Given the description of an element on the screen output the (x, y) to click on. 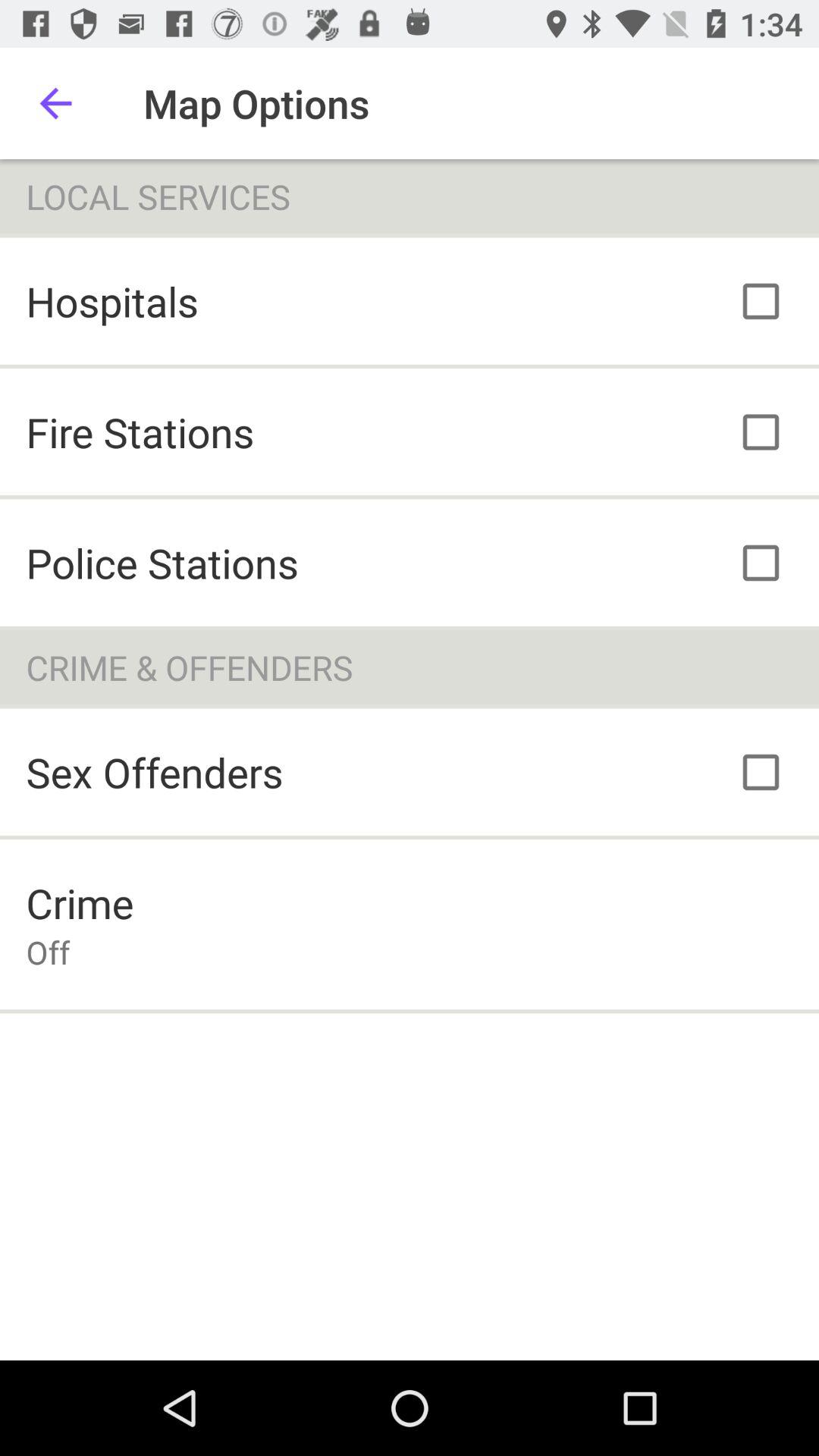
open the icon above crime & offenders item (162, 562)
